Given the description of an element on the screen output the (x, y) to click on. 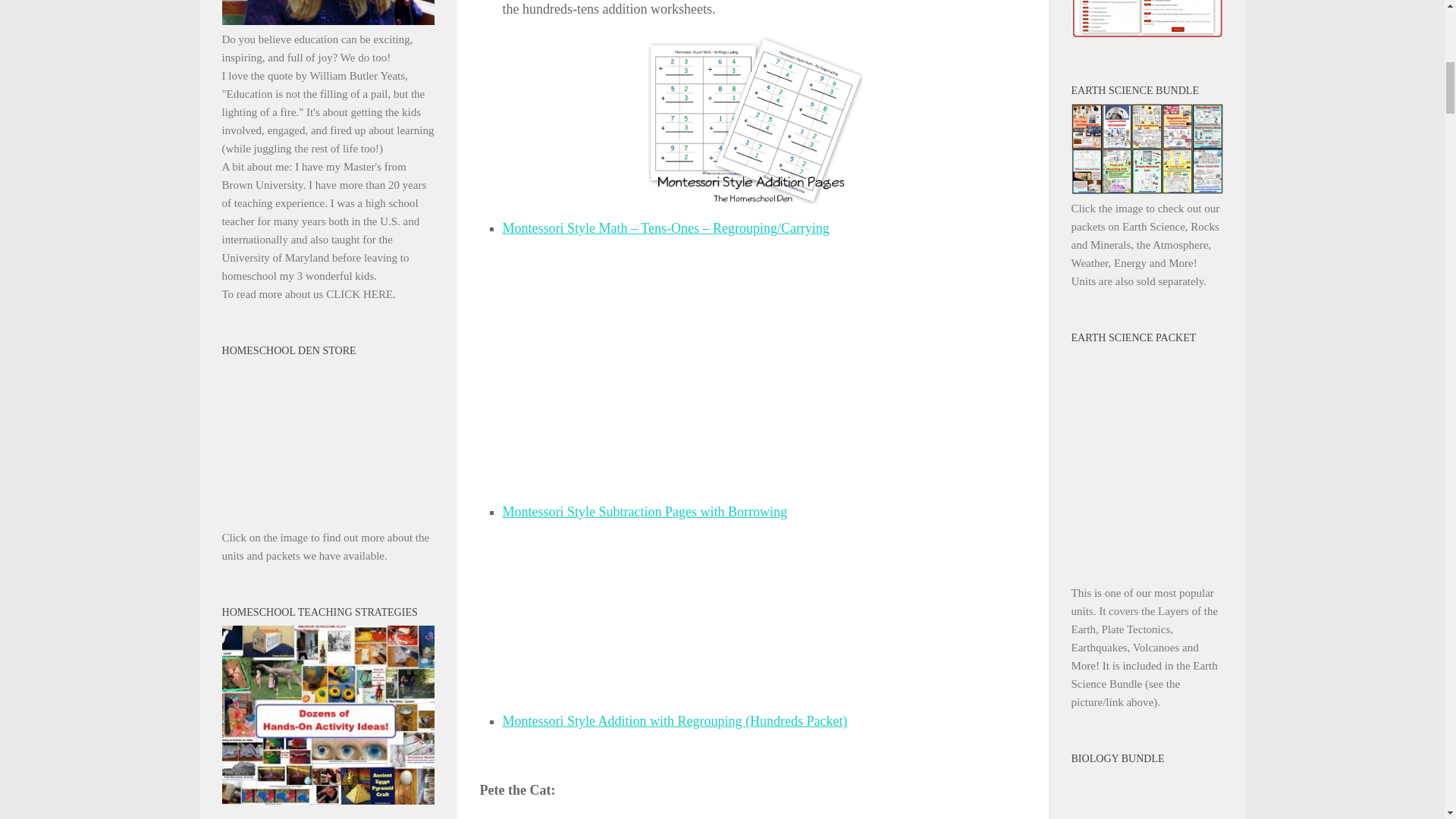
Montessori-Style Addition Pages with Regrouping (752, 352)
Montessori Style Addition with Regrouping (674, 720)
Montessori Style Subtraction with Borrowing (644, 511)
Montessori Addition Worksheets (752, 118)
